Given the description of an element on the screen output the (x, y) to click on. 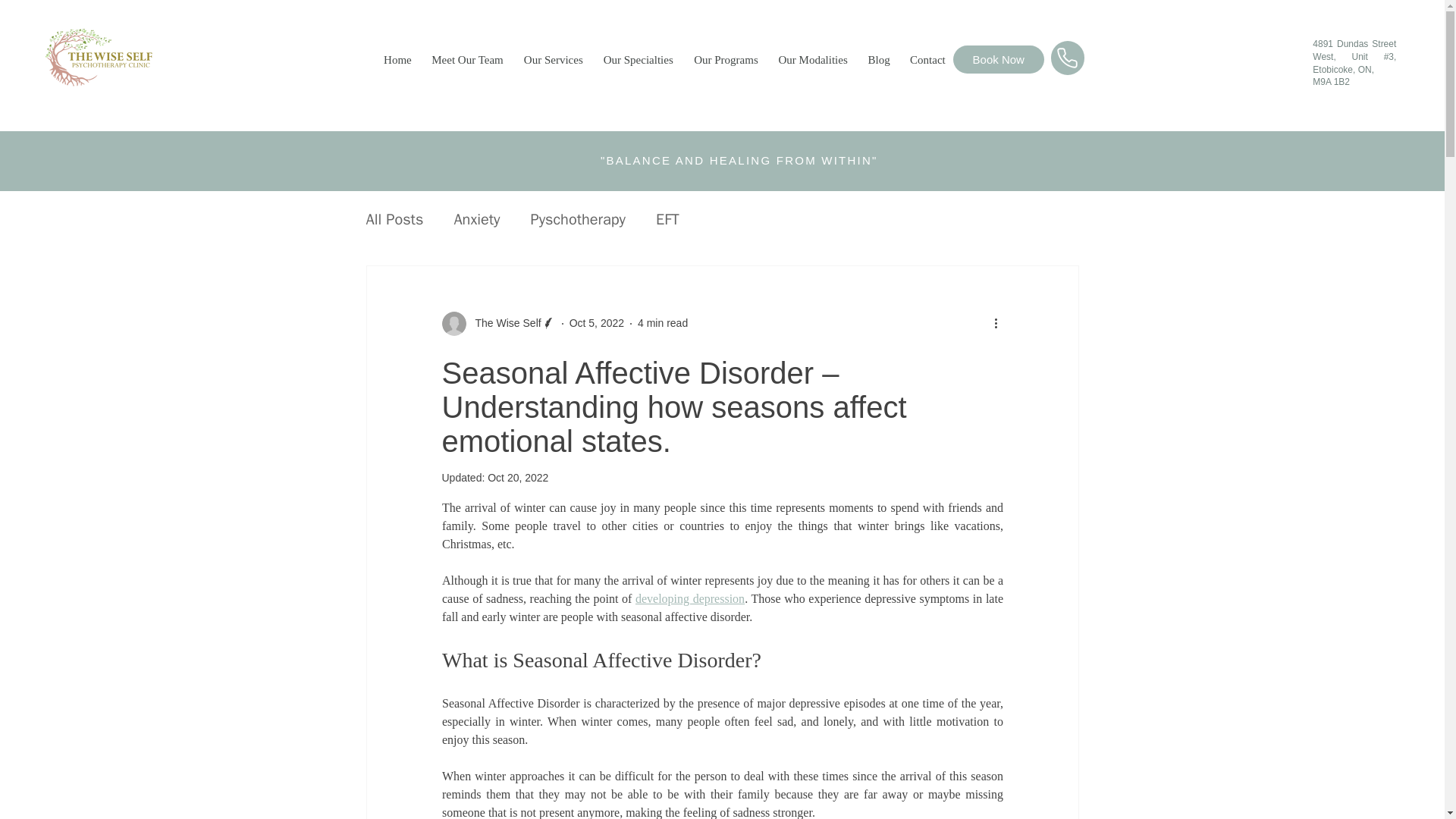
The Wise Self (502, 323)
Blog (877, 59)
Book Now (998, 59)
Our Specialties (636, 59)
All Posts (394, 219)
The Wise Self (497, 323)
EFT (667, 219)
Oct 20, 2022 (517, 477)
Contact (925, 59)
Anxiety (475, 219)
4 min read (662, 322)
TWS LOGO PSYCOTHERAPY CLINIC (115, 57)
Oct 5, 2022 (596, 322)
Pyschotherapy (578, 219)
Our Modalities (810, 59)
